Given the description of an element on the screen output the (x, y) to click on. 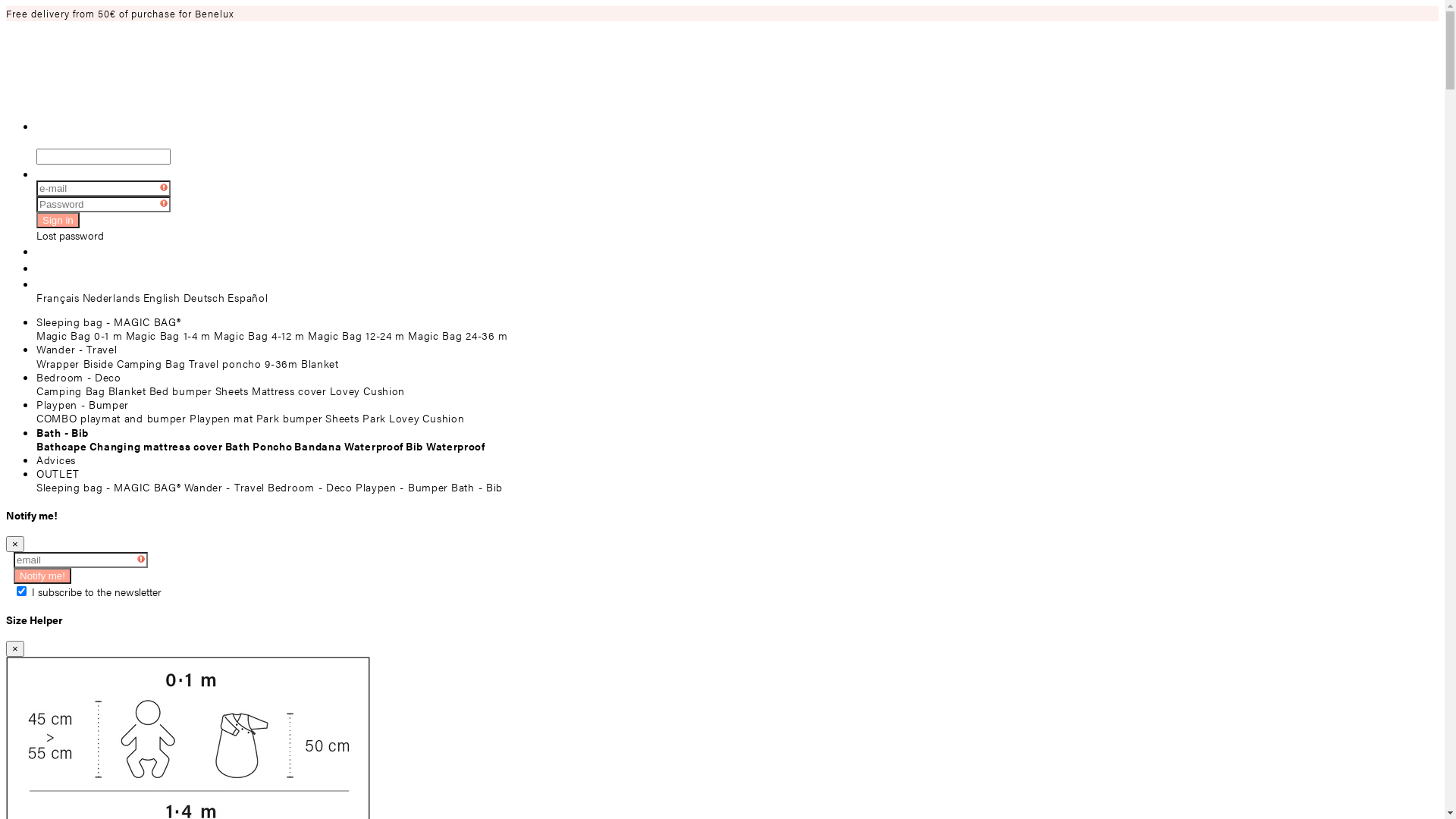
Magic Bag 0-1 m Element type: text (79, 334)
Playpen - Bumper Element type: text (82, 403)
Mattress cover Element type: text (288, 390)
Playpen mat Element type: text (221, 417)
Wrapper Biside Element type: text (74, 362)
Wander - Travel Element type: text (223, 486)
Lost password Element type: text (69, 234)
Magic Bag 24-36 m Element type: text (457, 334)
Bath - Bib Element type: text (476, 486)
Bath Poncho Element type: text (258, 445)
Blanket Element type: text (127, 390)
COMBO playmat and bumper Element type: text (111, 417)
Magic Bag 12-24 m Element type: text (355, 334)
Lovey Element type: text (404, 417)
Bib Waterproof Element type: text (445, 445)
Magic Bag 4-12 m Element type: text (258, 334)
Camping Bag Element type: text (150, 362)
Blanket Element type: text (319, 362)
Bed bumper Element type: text (180, 390)
Notify me! Element type: text (42, 575)
Park bumper Element type: text (289, 417)
Magic Bag 1-4 m Element type: text (168, 334)
Bathcape Element type: text (61, 445)
Travel poncho 9-36m Element type: text (243, 362)
Bath - Bib Element type: text (62, 431)
Cushion Element type: text (443, 417)
Playpen - Bumper Element type: text (401, 486)
English Element type: text (161, 296)
Bedroom - Deco Element type: text (309, 486)
Bedroom - Deco Element type: text (78, 376)
Cushion Element type: text (383, 390)
Sheets Element type: text (231, 390)
Nederlands Element type: text (111, 296)
Camping Bag Element type: text (70, 390)
Changing mattress cover Element type: text (155, 445)
Deutsch Element type: text (204, 296)
Sign in Element type: text (57, 220)
Advices Element type: text (55, 459)
Sheets Park Element type: text (355, 417)
Lovey Element type: text (344, 390)
OUTLET Element type: text (57, 472)
Bandana Waterproof Element type: text (348, 445)
Wander - Travel Element type: text (76, 348)
